Given the description of an element on the screen output the (x, y) to click on. 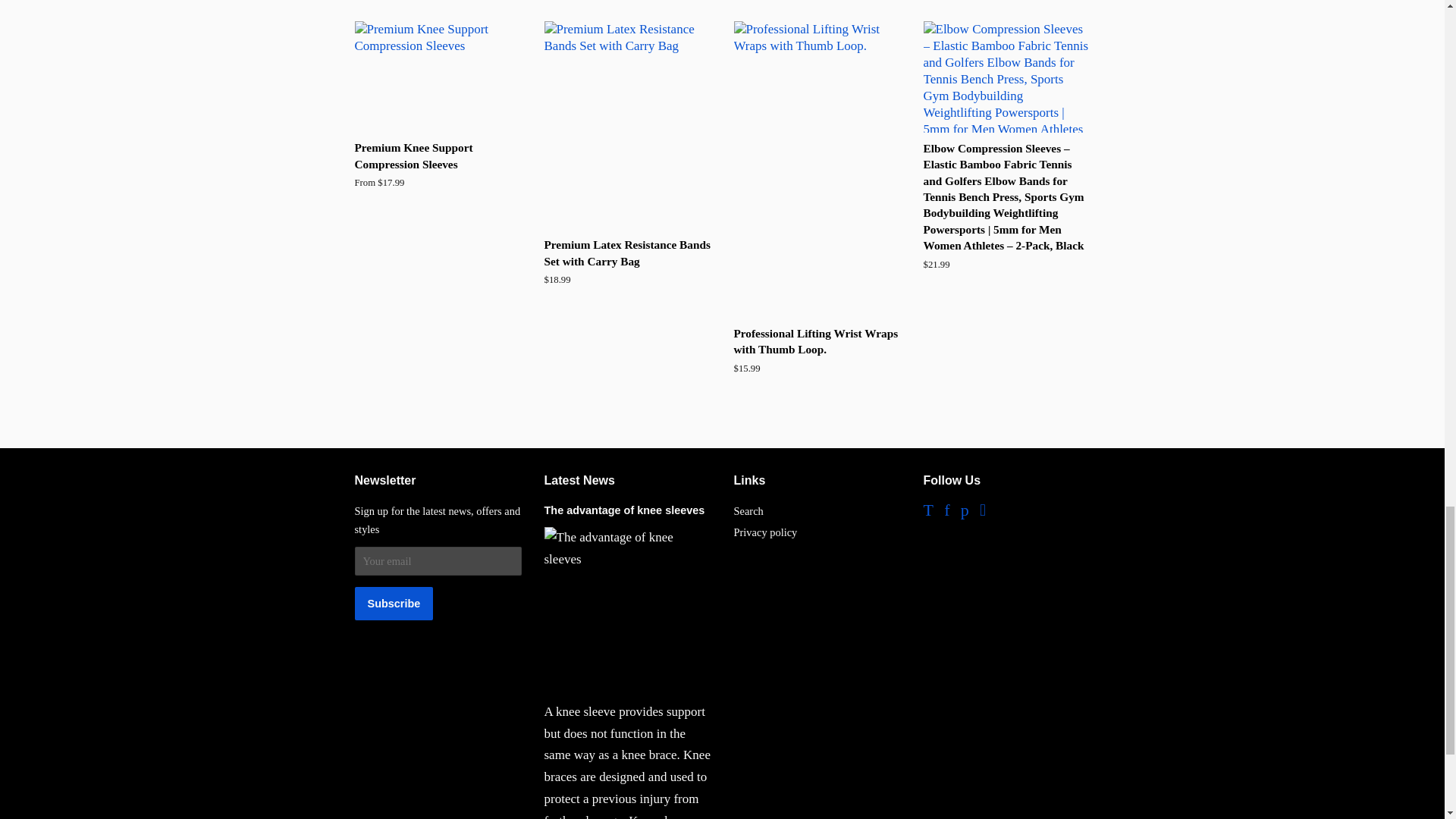
The advantage of knee sleeves (624, 510)
Latest News (579, 480)
Subscribe (394, 603)
Privacy policy (765, 532)
Search (747, 510)
Subscribe (394, 603)
